Given the description of an element on the screen output the (x, y) to click on. 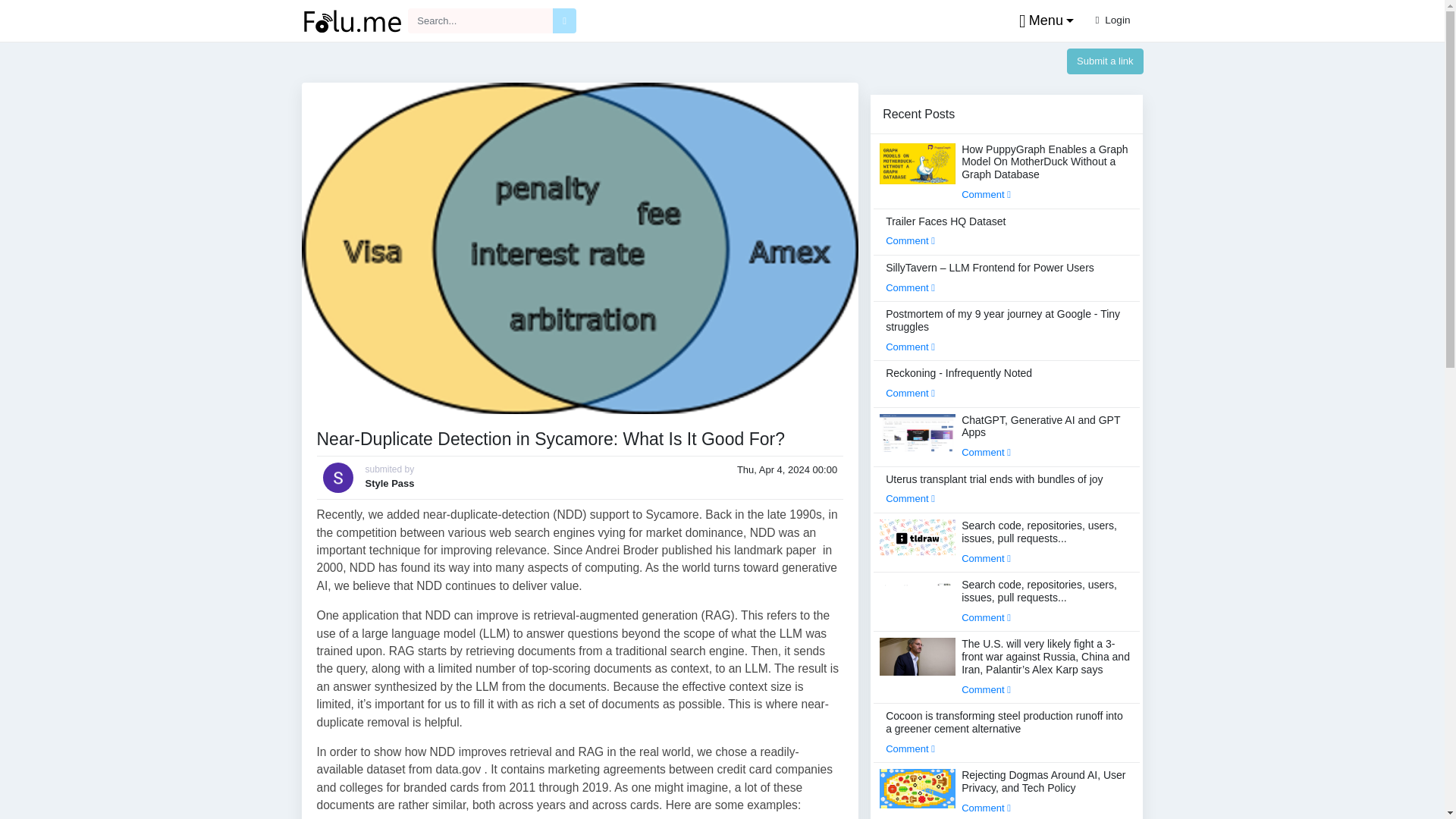
Menu (1043, 20)
Submit a link (1104, 61)
